Given the description of an element on the screen output the (x, y) to click on. 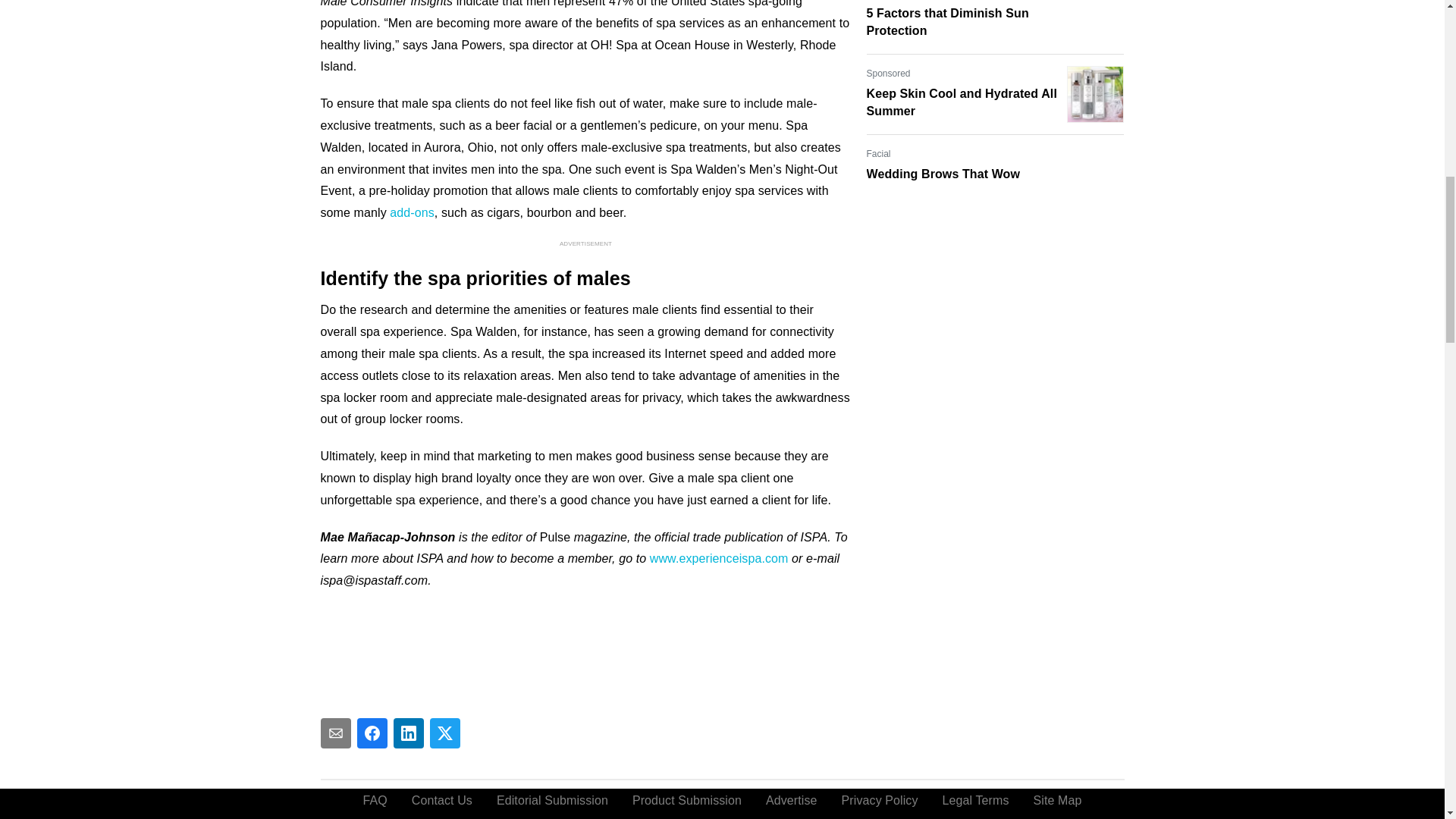
Sponsored (888, 73)
Share To facebook (371, 733)
Share To email (335, 733)
Share To linkedin (408, 733)
Share To twitter (444, 733)
